Given the description of an element on the screen output the (x, y) to click on. 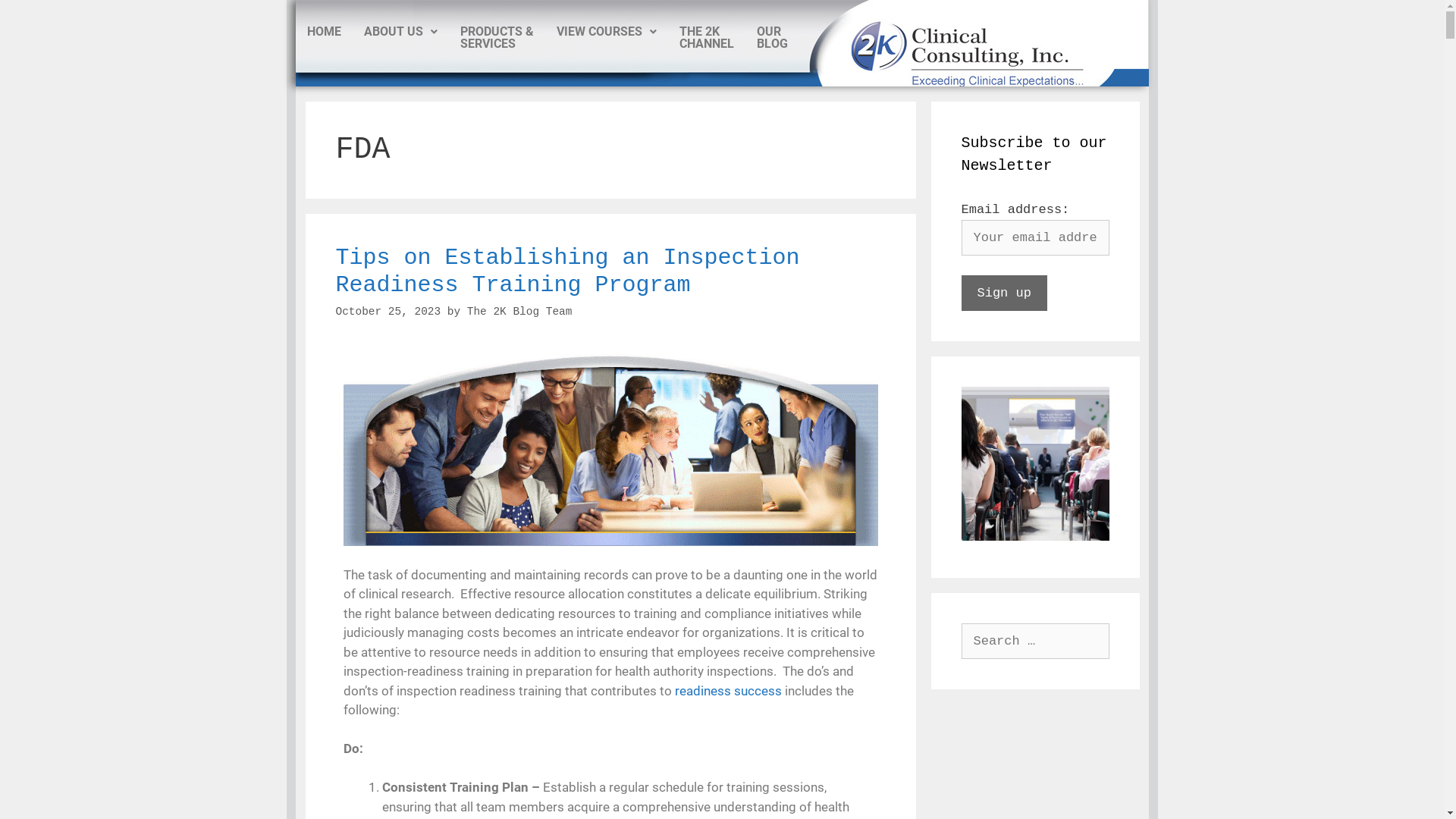
OUR
BLOG Element type: text (772, 41)
Search Element type: text (39, 18)
THE 2K
CHANNEL Element type: text (706, 41)
ABOUT US Element type: text (400, 35)
HOME Element type: text (323, 35)
The 2K Blog Team Element type: text (519, 311)
readiness success Element type: text (727, 690)
Search for: Element type: hover (1035, 641)
PRODUCTS &
SERVICES Element type: text (496, 41)
Sign up Element type: text (1004, 292)
VIEW COURSES Element type: text (606, 35)
